Given the description of an element on the screen output the (x, y) to click on. 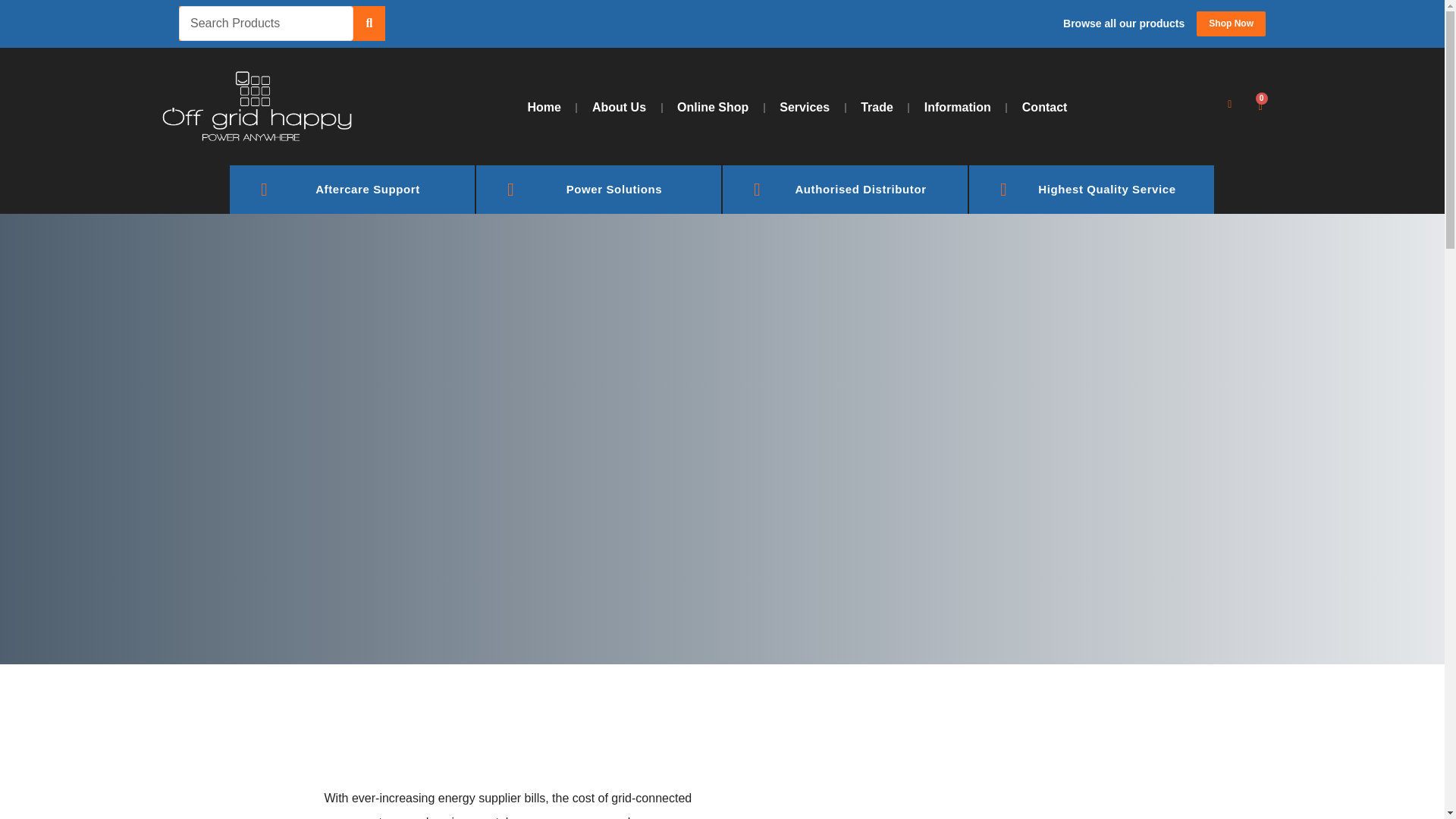
About Us (618, 107)
Trade (877, 107)
Shop Now (1230, 23)
Home (543, 107)
Services (804, 107)
Contact (1045, 107)
Information (956, 107)
Online Shop (713, 107)
